Given the description of an element on the screen output the (x, y) to click on. 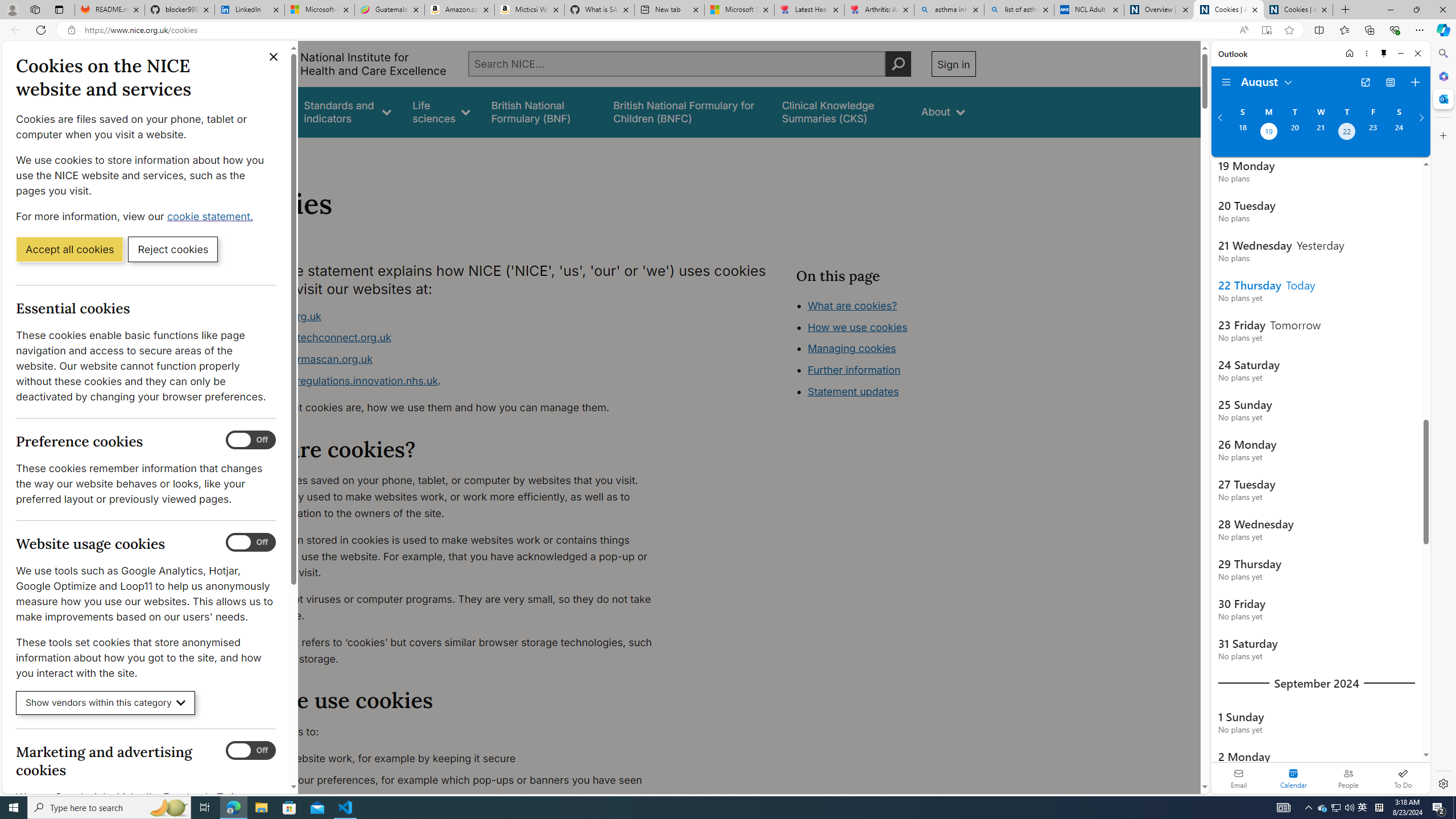
Managing cookies (852, 348)
People (1347, 777)
Arthritis: Ask Health Professionals (879, 9)
Saturday, August 24, 2024.  (1399, 132)
Perform search (898, 63)
www.digitalregulations.innovation.nhs.uk. (452, 380)
